Given the description of an element on the screen output the (x, y) to click on. 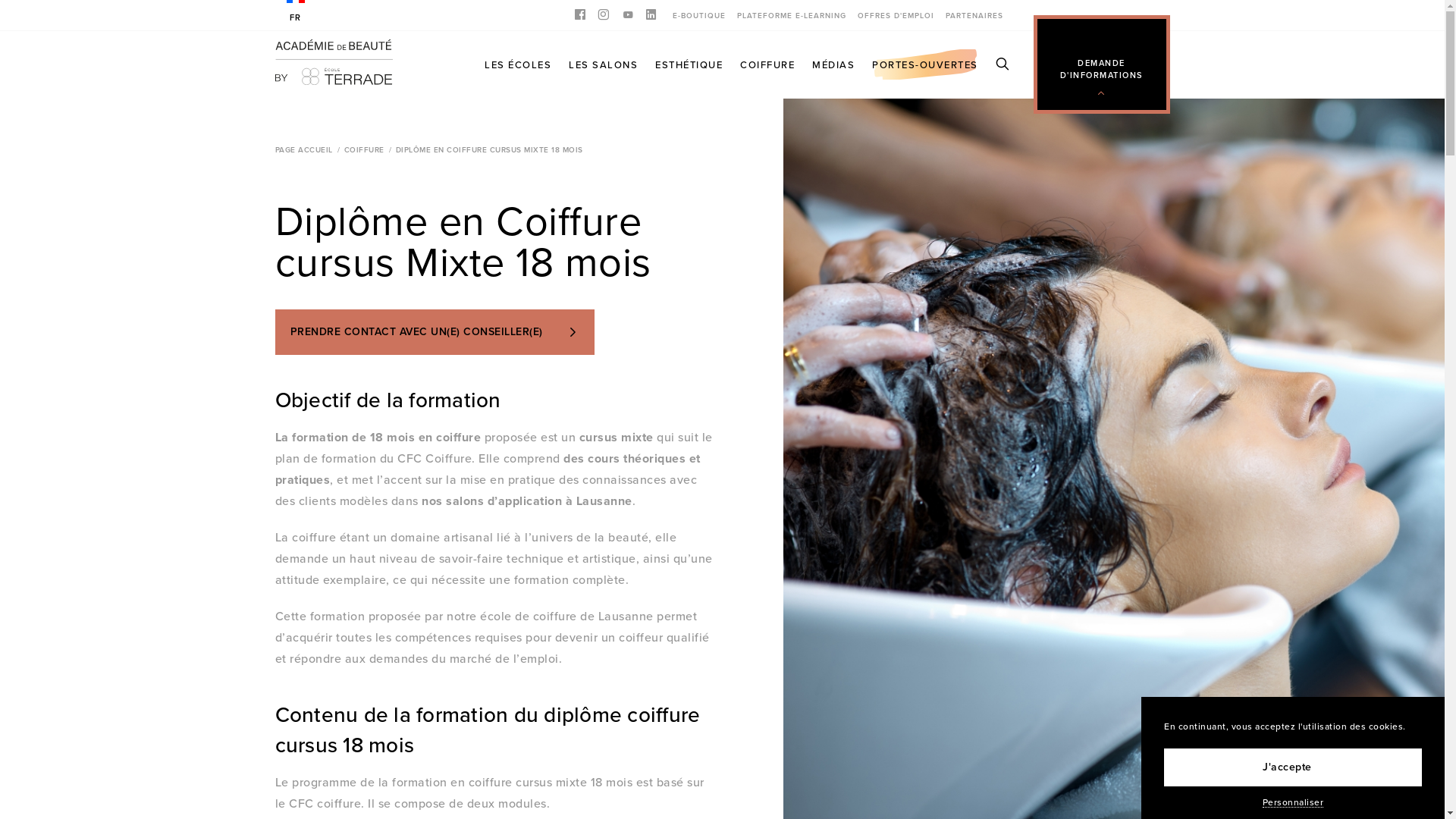
PRENDRE CONTACT AVEC UN(E) CONSEILLER(E) Element type: text (434, 331)
PORTES-OUVERTES Element type: text (925, 64)
PAGE ACCUEIL Element type: text (303, 149)
E-BOUTIQUE Element type: text (697, 14)
OFFRES D'EMPLOI Element type: text (894, 14)
PLATEFORME E-LEARNING Element type: text (791, 14)
PARTENAIRES Element type: text (973, 14)
DEMANDE D'INFORMATIONS Element type: text (1101, 67)
COIFFURE Element type: text (364, 149)
FR Element type: text (295, 11)
